Given the description of an element on the screen output the (x, y) to click on. 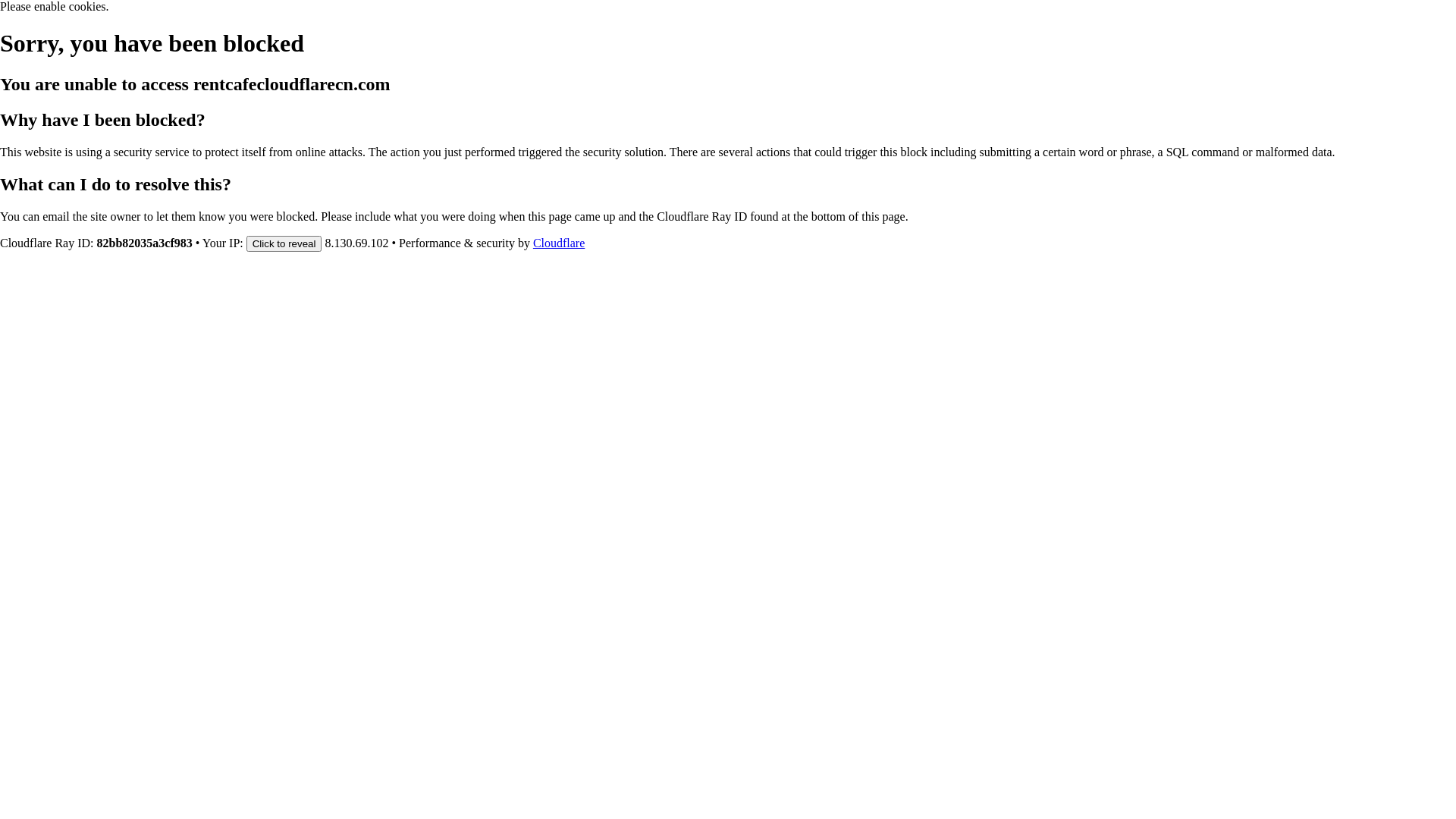
Cloudflare Element type: text (558, 242)
Click to reveal Element type: text (284, 243)
